Given the description of an element on the screen output the (x, y) to click on. 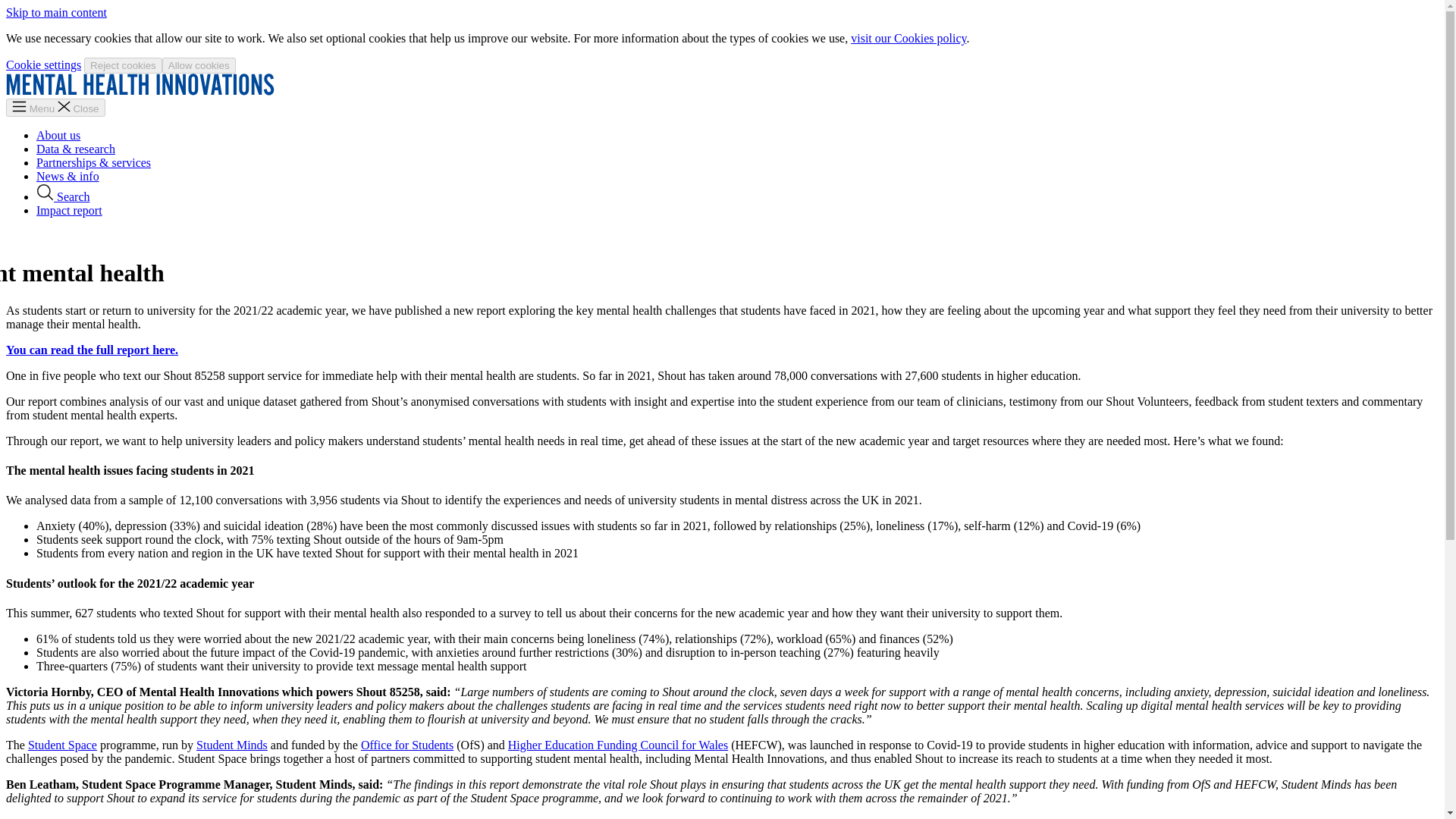
Allow cookies (198, 65)
Search (63, 196)
Higher Education Funding Council for Wales (618, 744)
About us (58, 134)
Impact report (68, 210)
Menu Close (54, 107)
Student Space (62, 744)
Office for Students (406, 744)
Cookie settings (43, 64)
Reject cookies (122, 65)
Skip to main content (55, 11)
You can read the full report here. (91, 349)
Student Minds (231, 744)
visit our Cookies policy (908, 38)
